Given the description of an element on the screen output the (x, y) to click on. 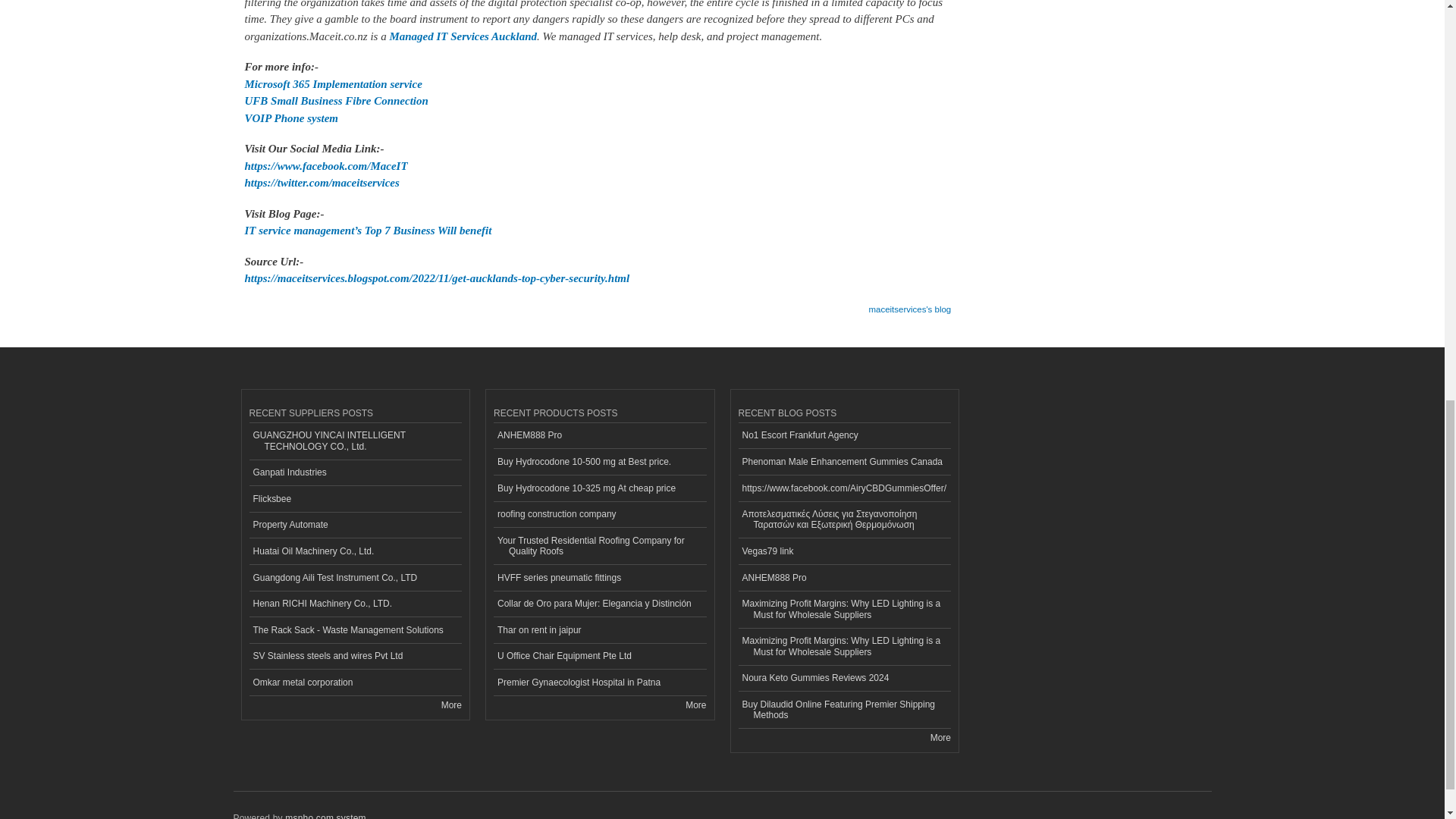
Flicksbee (354, 499)
Read the latest blog entries. (940, 737)
Managed IT Services Auckland (462, 36)
Read the latest products entries. (695, 705)
Read maceitservices's latest blog entries. (908, 304)
UFB Small Business Fibre Connection (336, 101)
Guangdong Aili Test Instrument Co., LTD (354, 578)
Microsoft 365 Implementation service (333, 83)
Read the latest suppliers entries. (451, 705)
Ganpati Industries (354, 473)
